Given the description of an element on the screen output the (x, y) to click on. 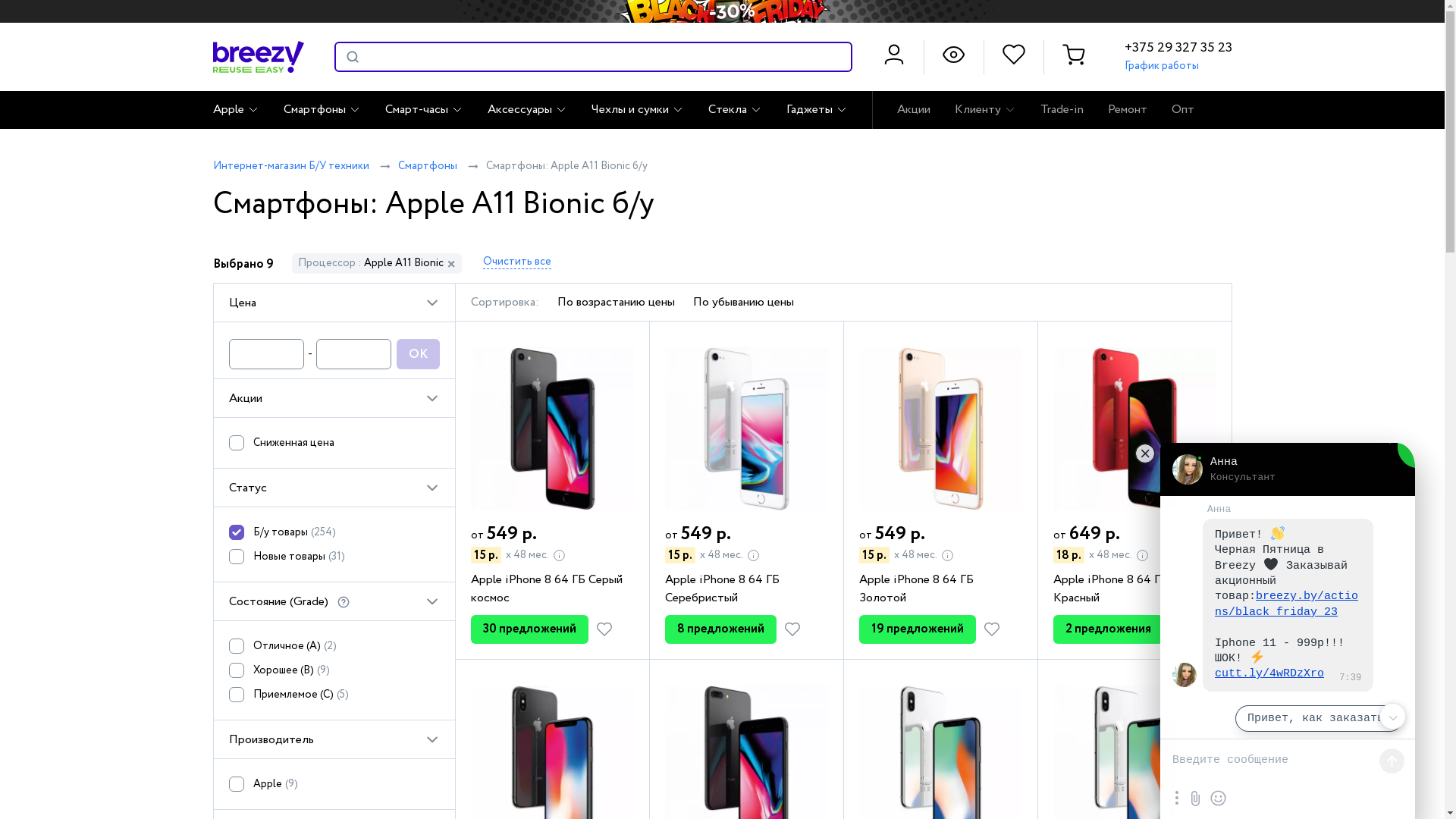
Apple iPhone 8 64 GB Space Gray Element type: hover (551, 428)
Apple iPhone 8 64 GB Red Element type: hover (1133, 428)
Trade-in Element type: text (1061, 109)
+375 29 327 35 23 Element type: text (1177, 47)
Apple
(9) Element type: text (334, 787)
Apple iPhone 8 64 GB Silver Element type: hover (745, 428)
Apple iPhone 8 64 GB Gold Element type: hover (939, 428)
